Given the description of an element on the screen output the (x, y) to click on. 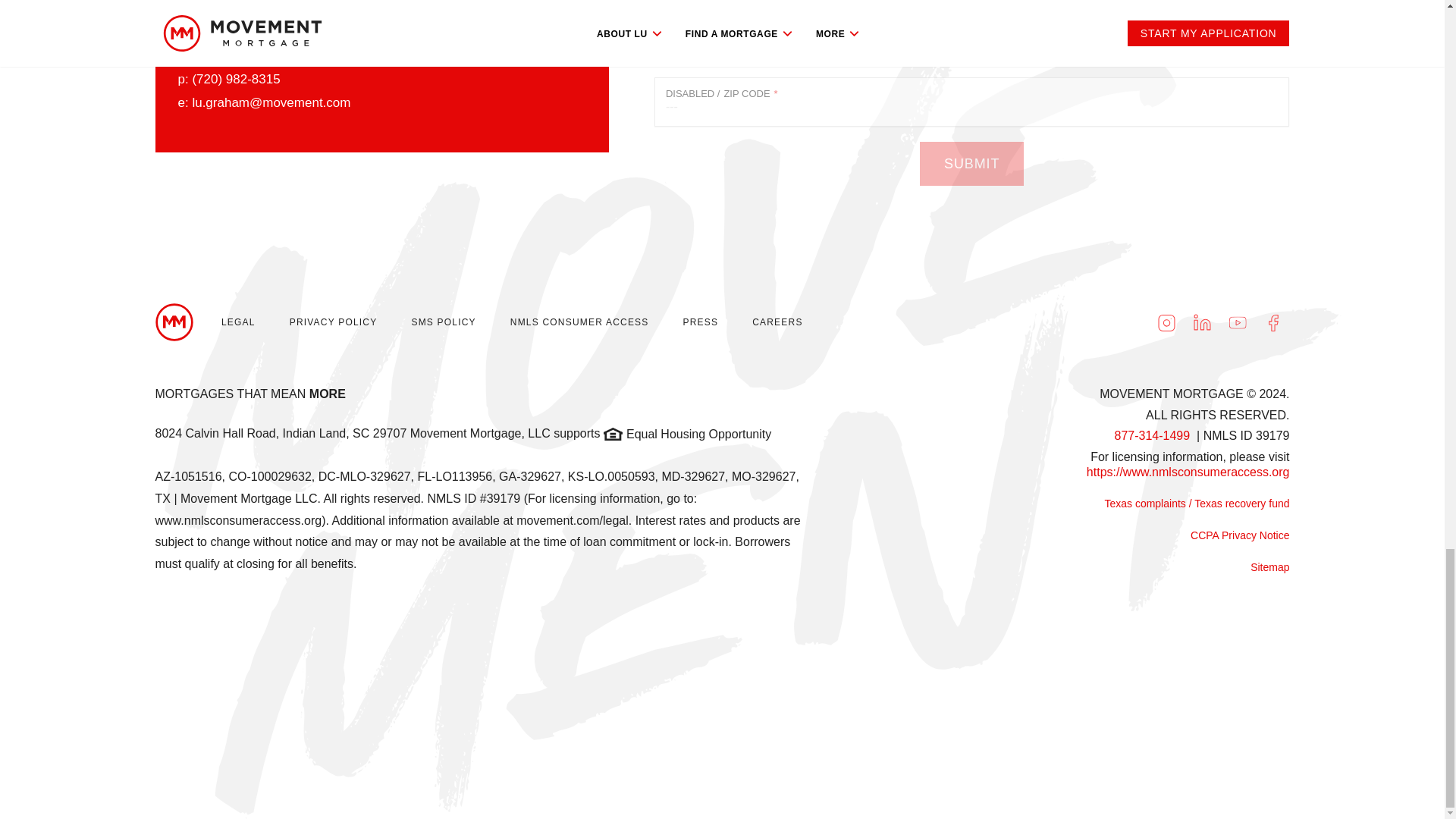
Submit (971, 163)
